Given the description of an element on the screen output the (x, y) to click on. 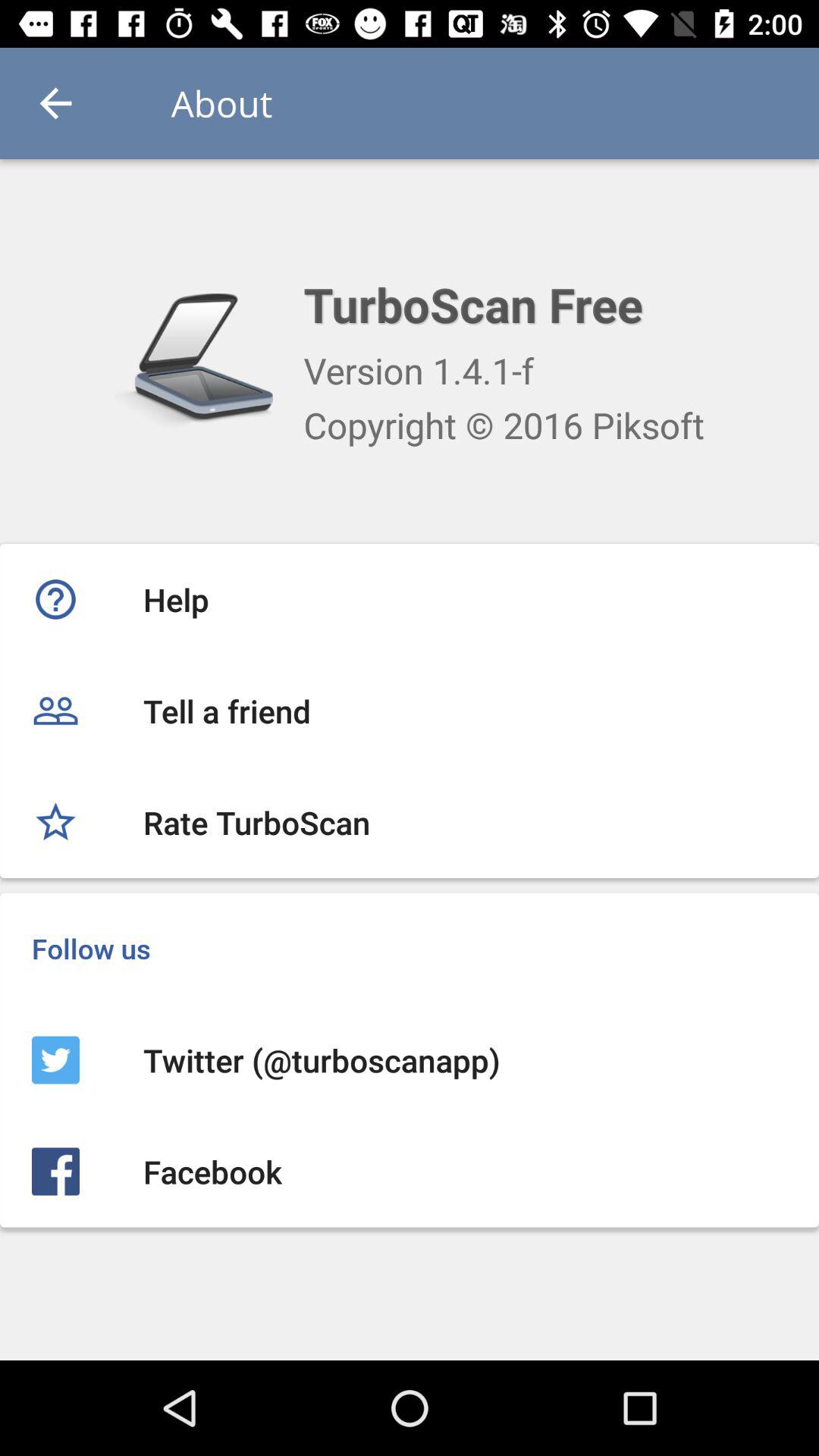
turn off item below follow us item (409, 1059)
